Given the description of an element on the screen output the (x, y) to click on. 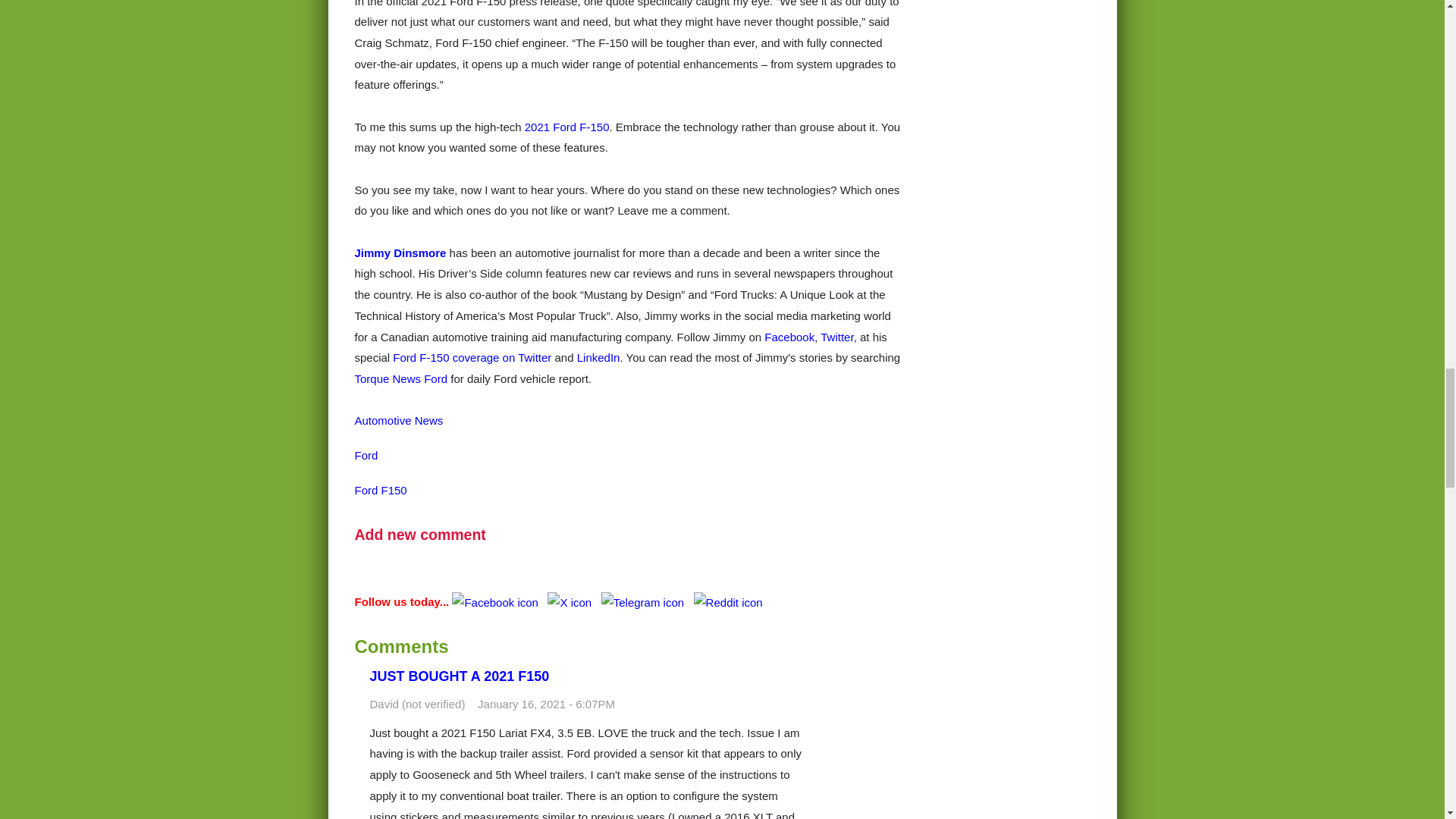
Join us on Reddit! (728, 601)
Ford F-150 coverage on Twitter (472, 357)
Ford F150 (381, 490)
Share your thoughts and opinions. (420, 534)
Twitter (837, 336)
Add new comment (420, 534)
LinkedIn (598, 357)
Automotive News (399, 420)
2021 Ford F-150 (567, 126)
Jimmy Dinsmore (400, 252)
JUST BOUGHT A 2021 F150 (459, 676)
Join us on Telegram! (644, 601)
Ford (366, 454)
Facebook (788, 336)
Torque News Ford (401, 378)
